Given the description of an element on the screen output the (x, y) to click on. 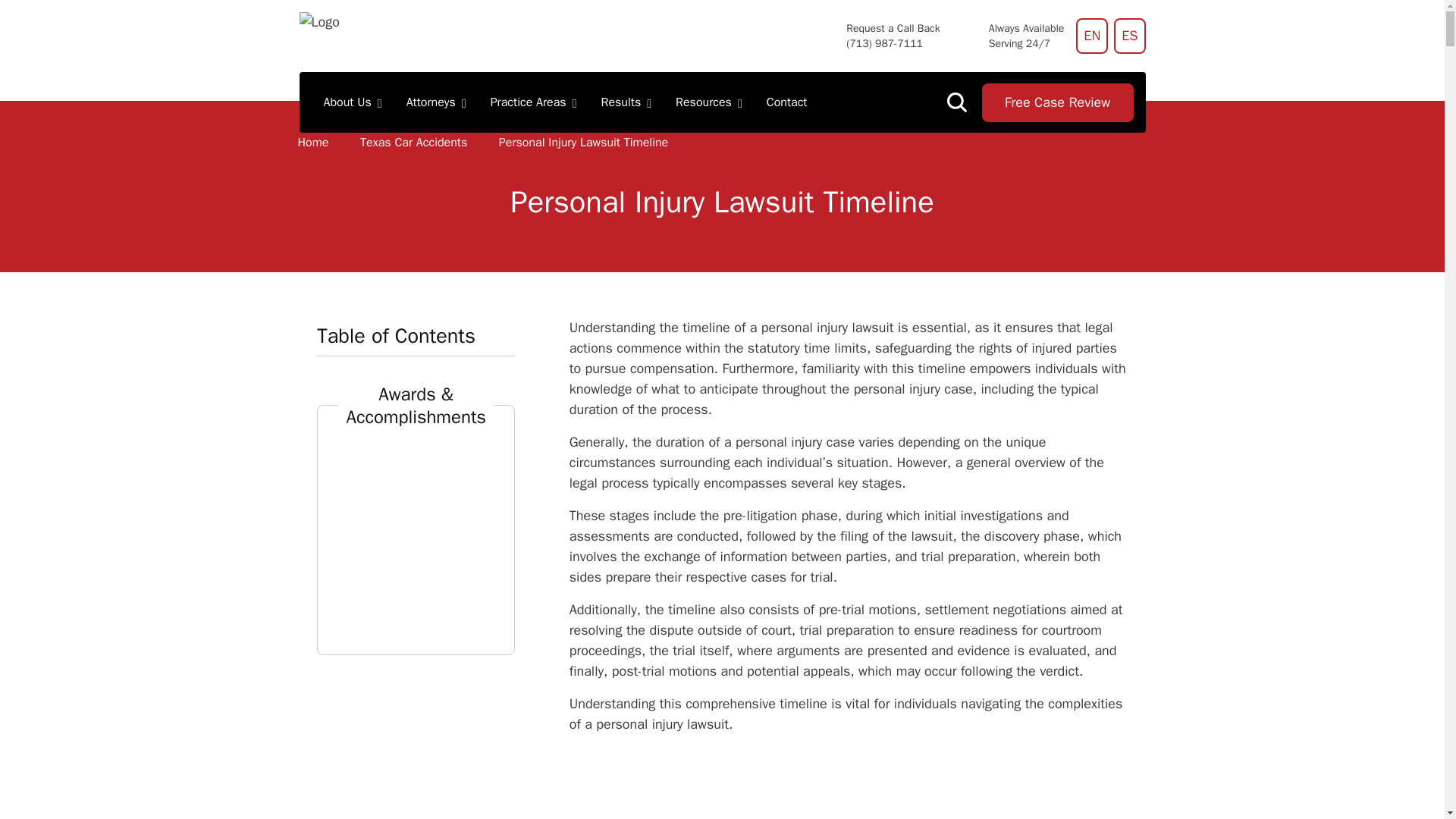
EN (1091, 36)
Practice Areas (534, 102)
Attorneys (436, 102)
About Us (352, 102)
